Given the description of an element on the screen output the (x, y) to click on. 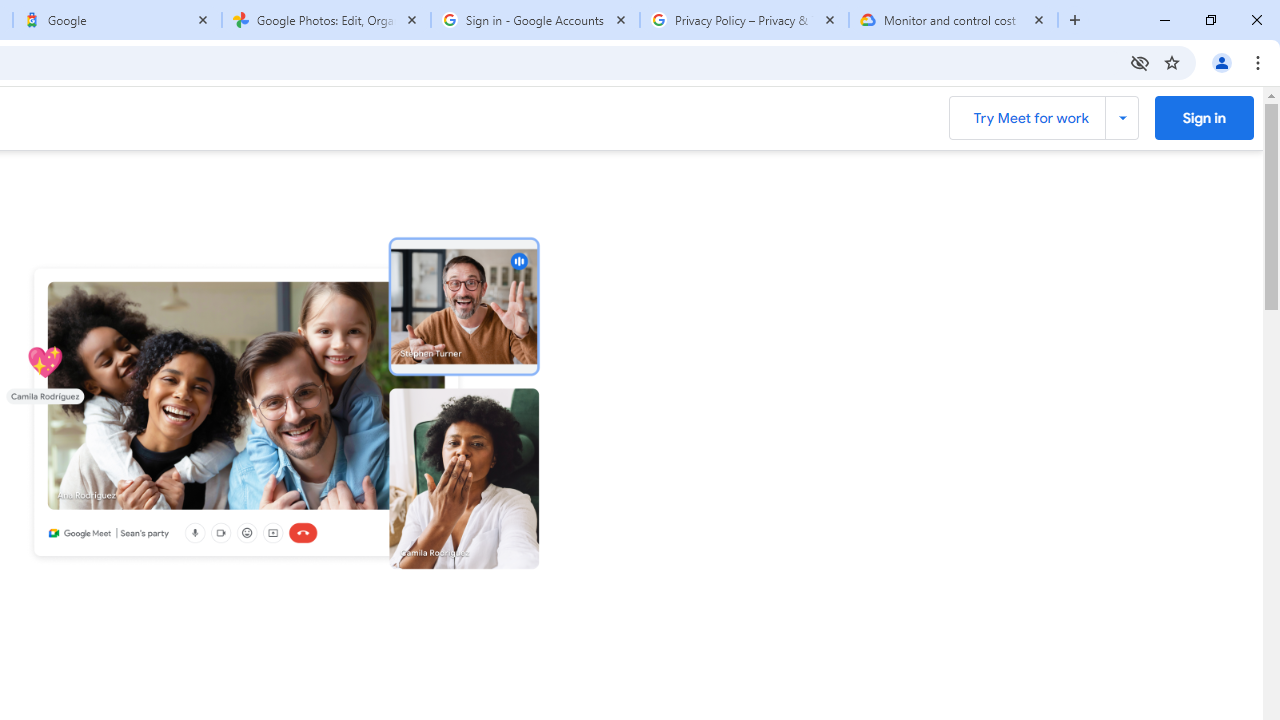
Google (116, 20)
Sign in - Google Accounts (535, 20)
Try Meet for work (1042, 117)
